Given the description of an element on the screen output the (x, y) to click on. 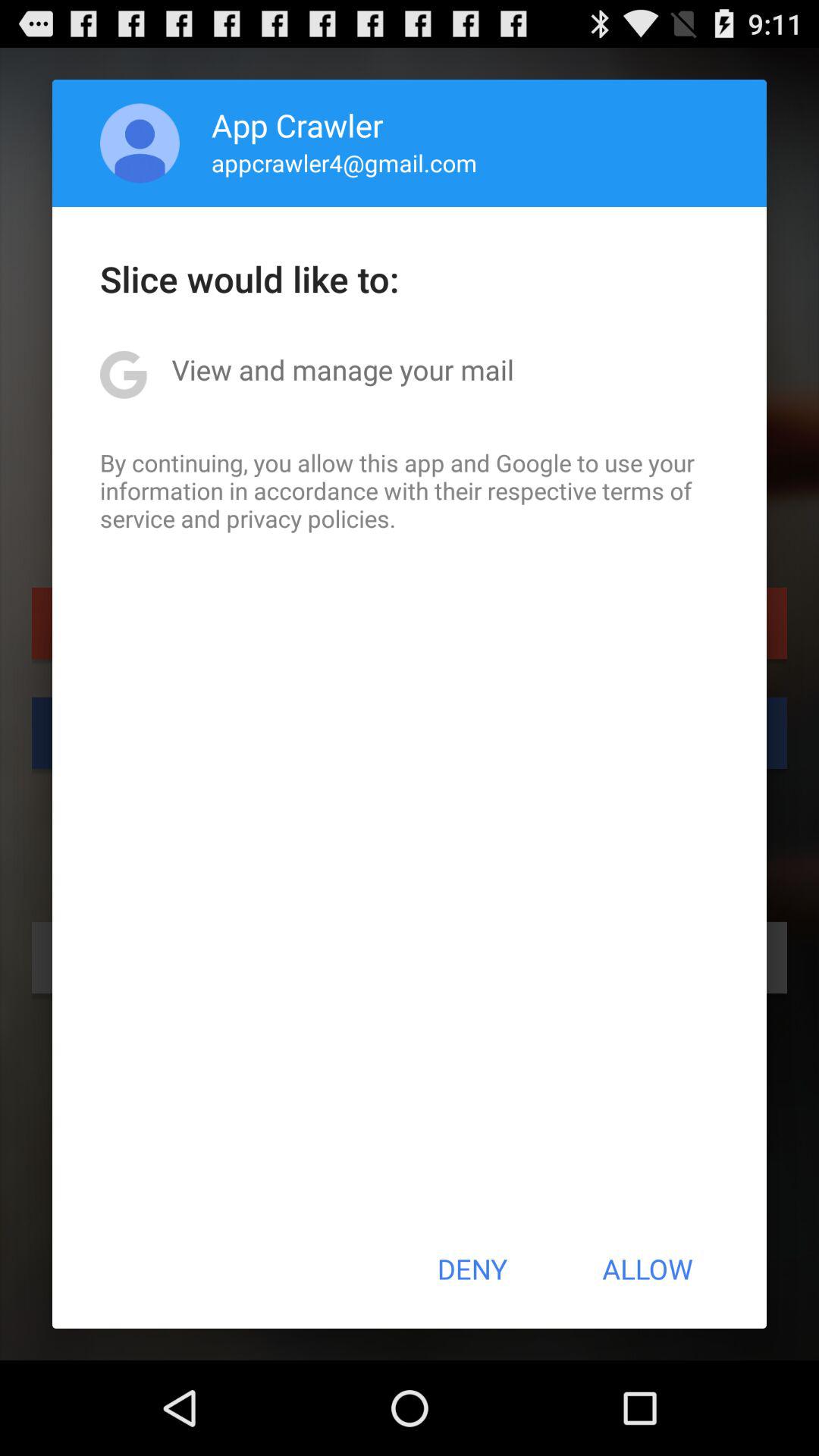
press icon below the slice would like (342, 369)
